Given the description of an element on the screen output the (x, y) to click on. 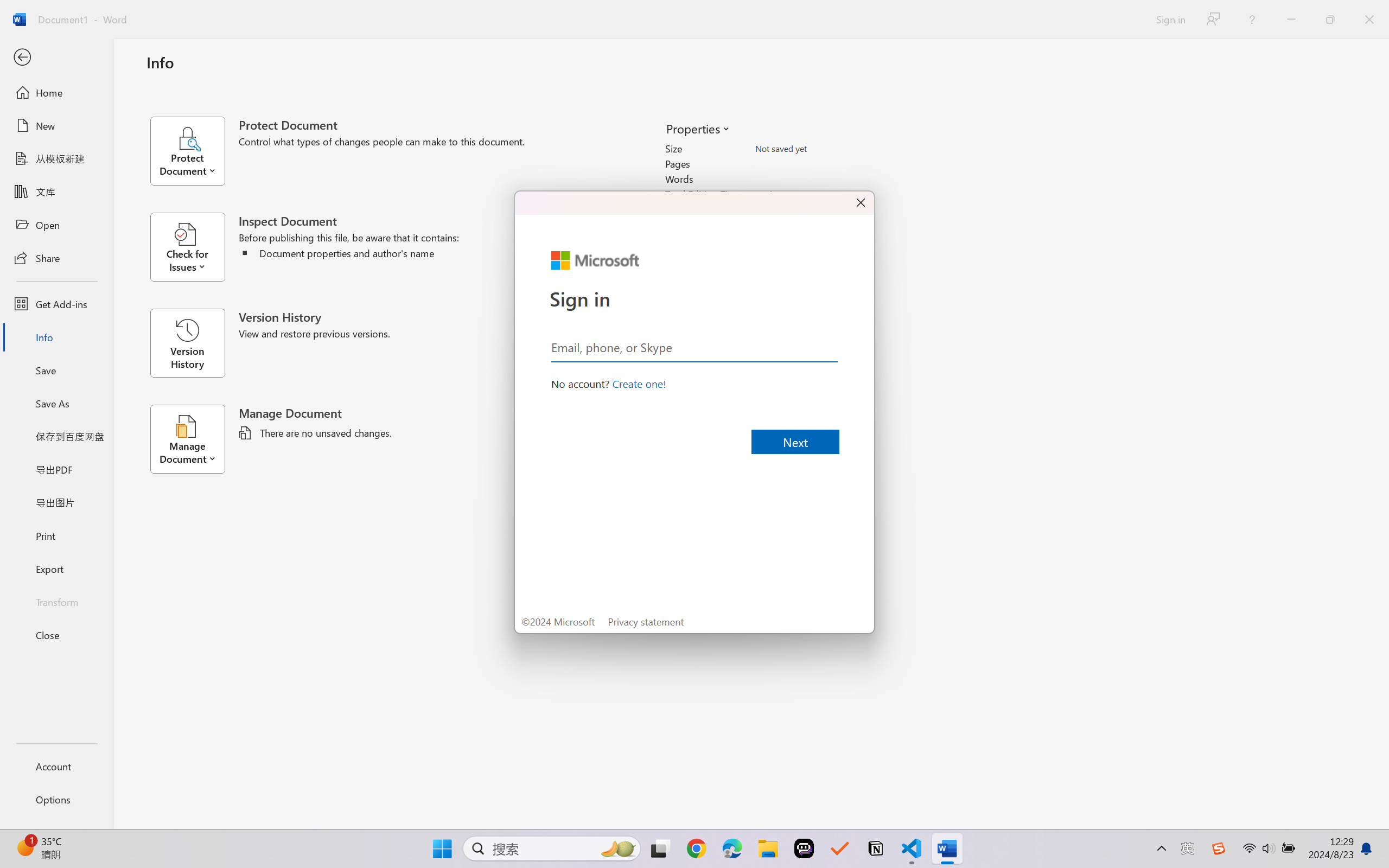
Print (56, 535)
Export (56, 568)
Options (56, 798)
